Given the description of an element on the screen output the (x, y) to click on. 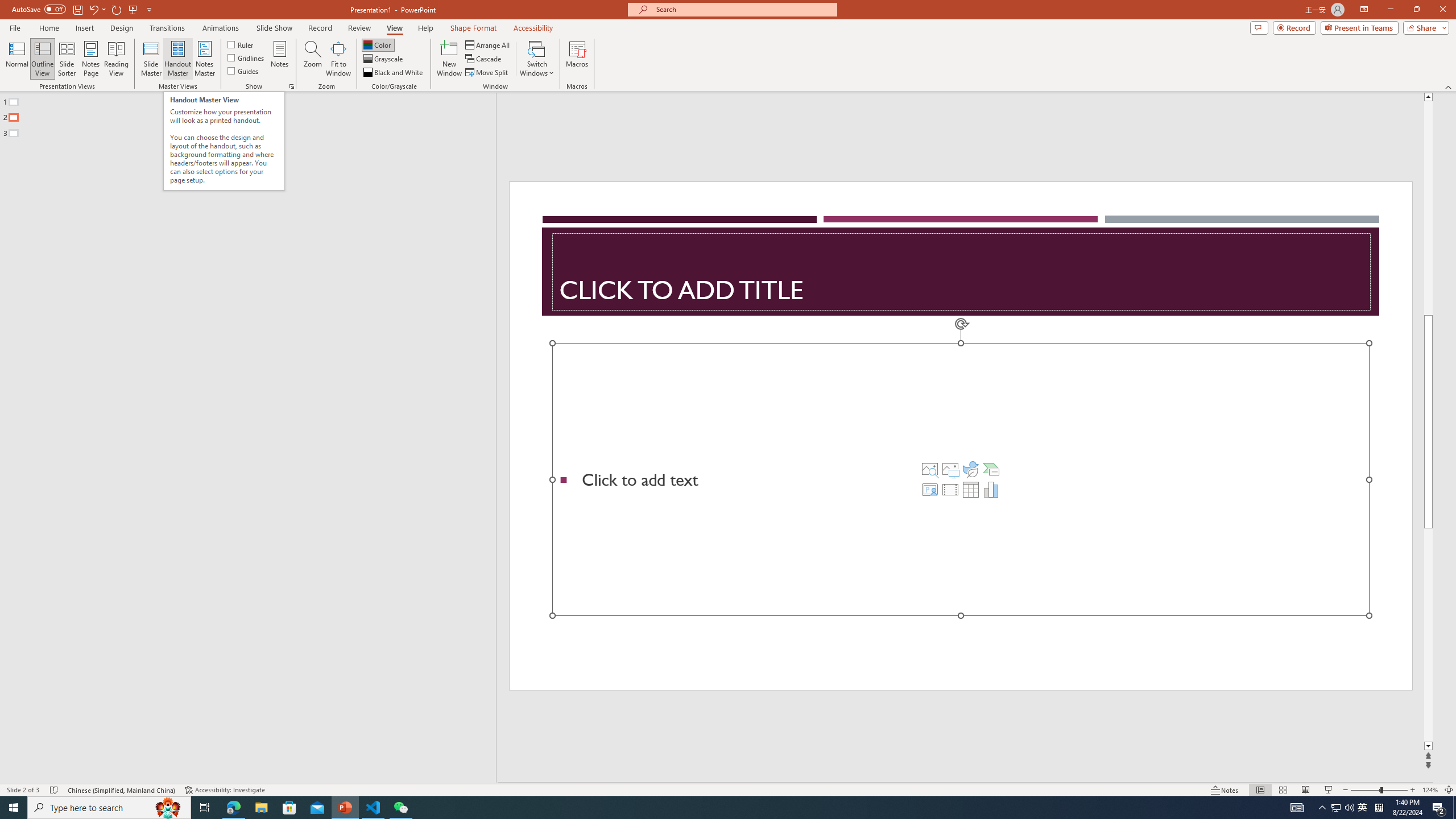
Zoom 124% (1430, 790)
Switch Windows (537, 58)
Notes (279, 58)
Arrange All (488, 44)
Grid Settings... (291, 85)
